Given the description of an element on the screen output the (x, y) to click on. 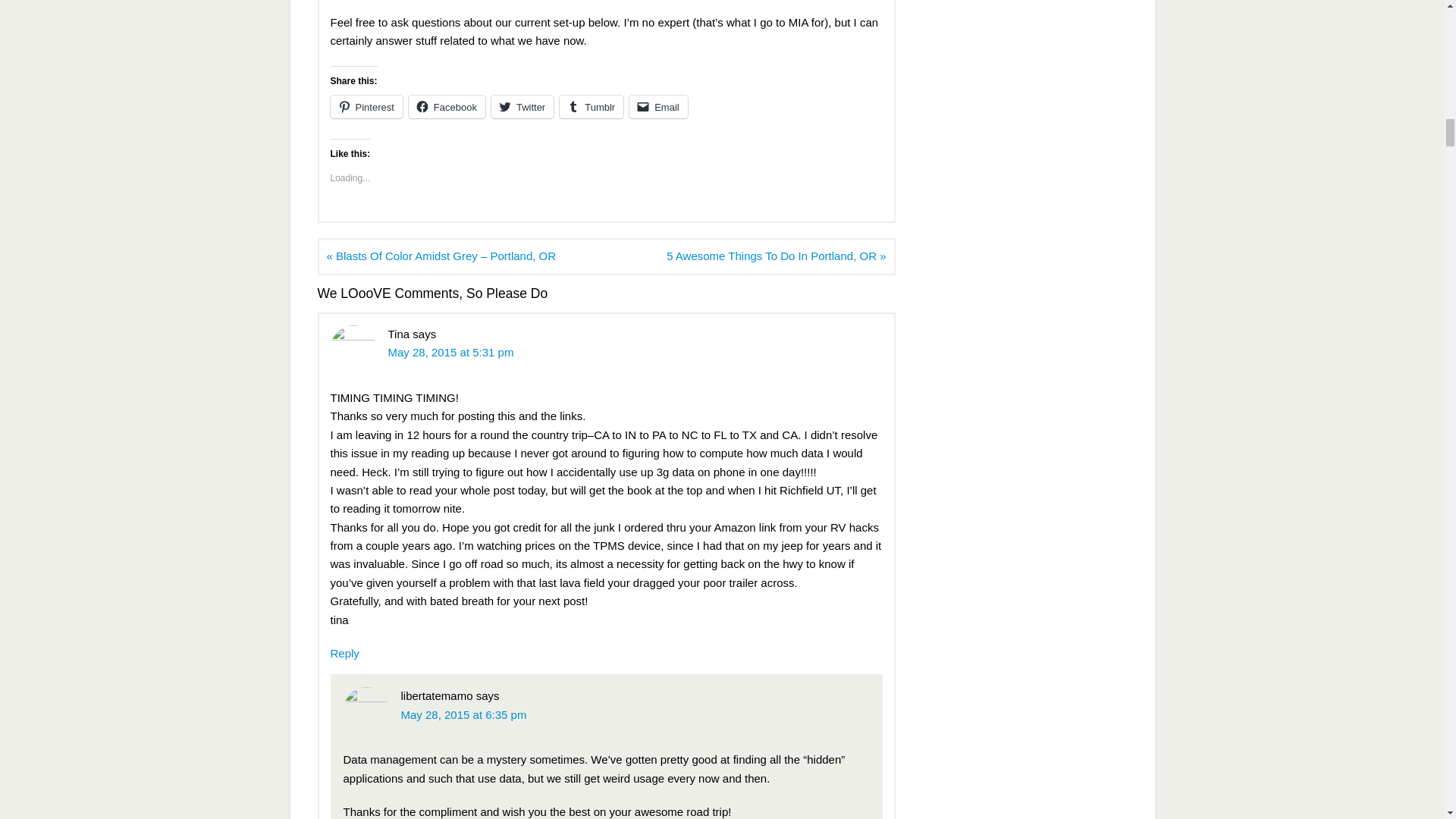
Click to share on Facebook (446, 106)
Click to share on Twitter (522, 106)
Click to share on Tumblr (591, 106)
Click to share on Pinterest (366, 106)
Click to email a link to a friend (657, 106)
